Given the description of an element on the screen output the (x, y) to click on. 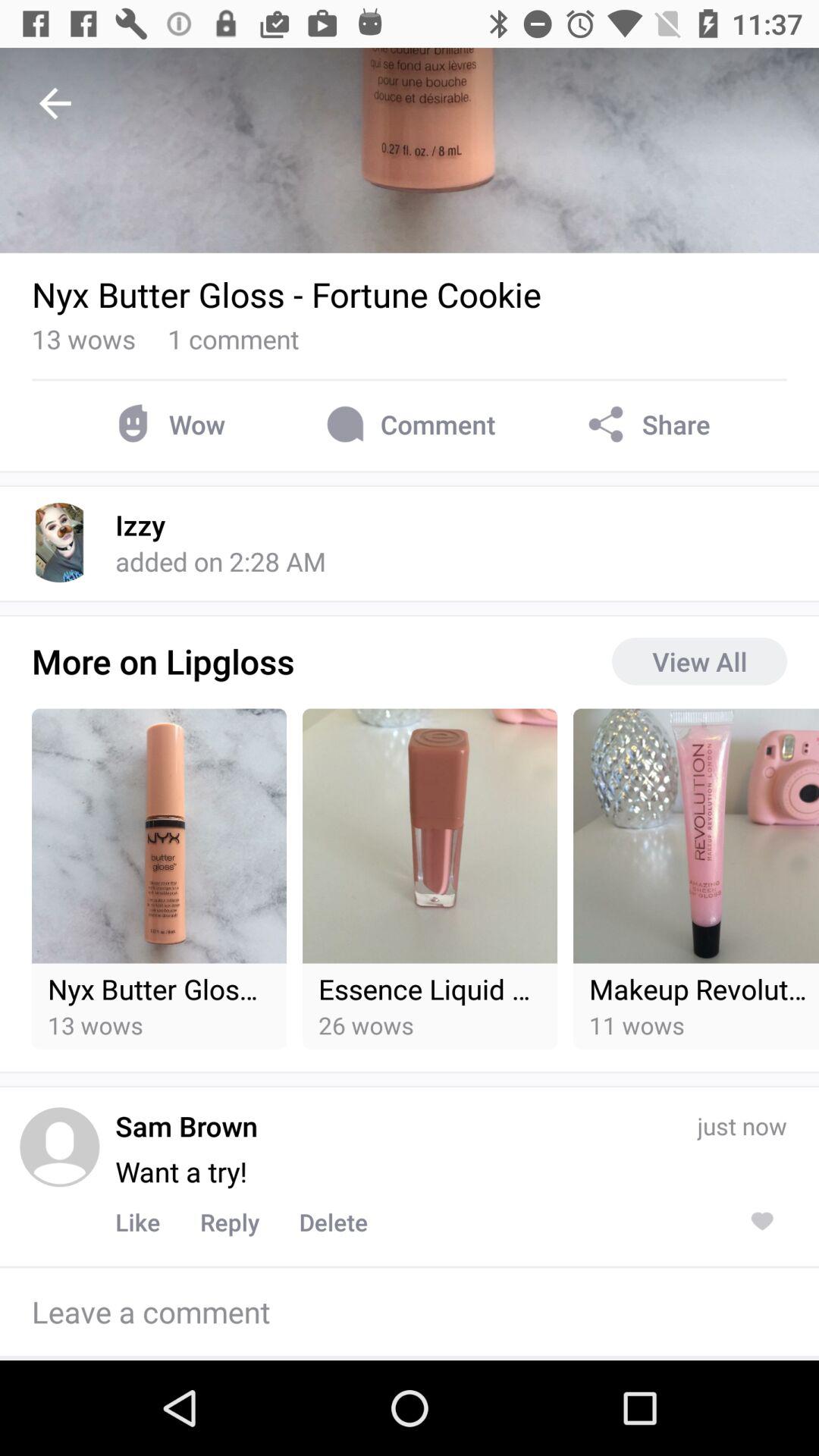
open profile picture (59, 1146)
